Given the description of an element on the screen output the (x, y) to click on. 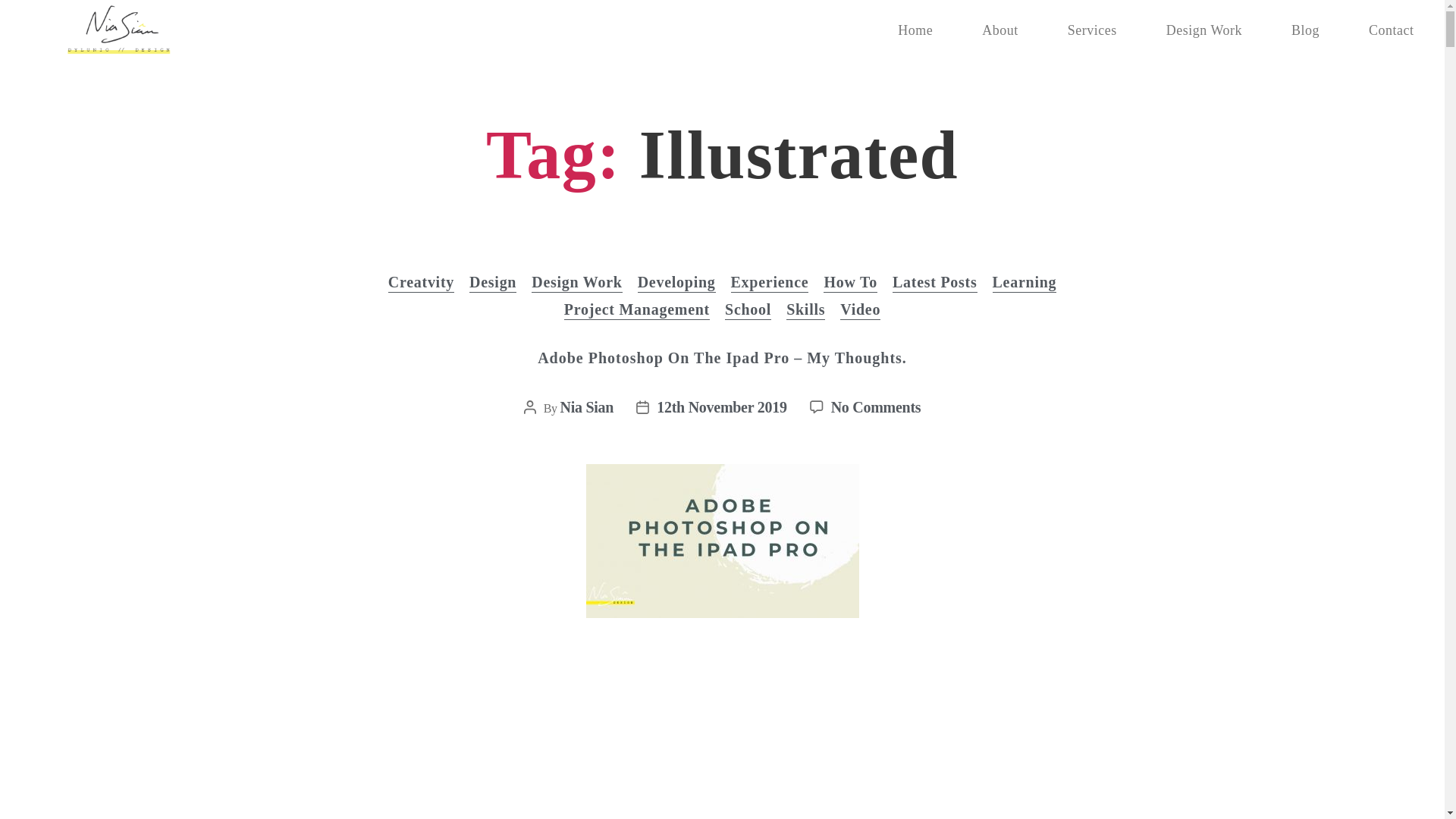
Developing (676, 282)
Blog (1305, 30)
How to contact Nia Sian (1391, 30)
Learning (1024, 282)
No Comments (876, 406)
Home (915, 30)
12th November 2019 (721, 406)
Video (860, 310)
Experience (769, 282)
How To (850, 282)
